Given the description of an element on the screen output the (x, y) to click on. 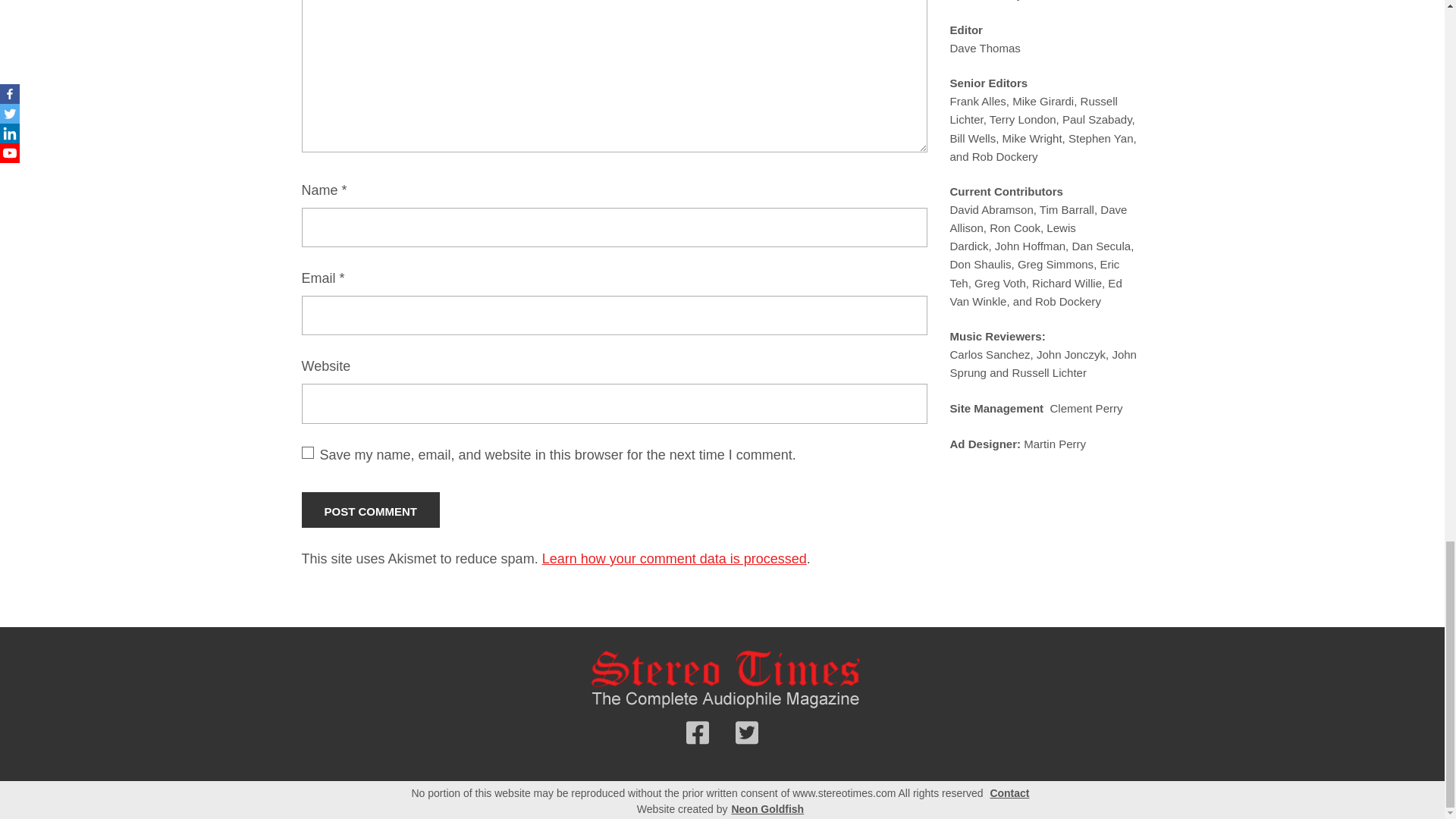
Learn how your comment data is processed (673, 558)
Neon Goldfish (767, 809)
Post Comment (371, 509)
Post Comment (371, 509)
Contact (1008, 792)
